Given the description of an element on the screen output the (x, y) to click on. 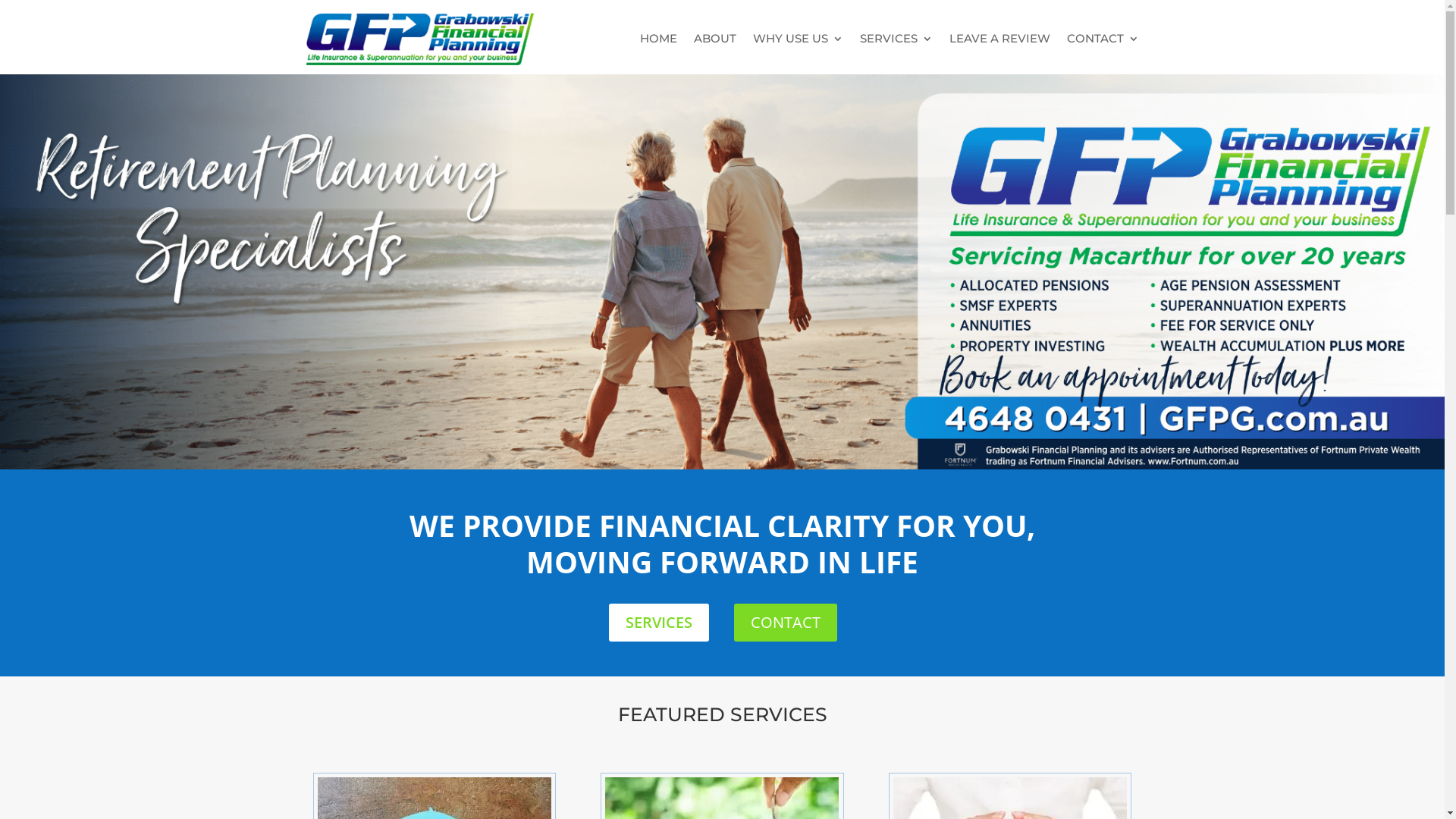
CONTACT Element type: text (1102, 38)
CONTACT Element type: text (785, 622)
HOME Element type: text (658, 38)
WHY USE US Element type: text (797, 38)
SERVICES Element type: text (658, 622)
ABOUT Element type: text (714, 38)
SERVICES Element type: text (895, 38)
LEAVE A REVIEW Element type: text (999, 38)
